Given the description of an element on the screen output the (x, y) to click on. 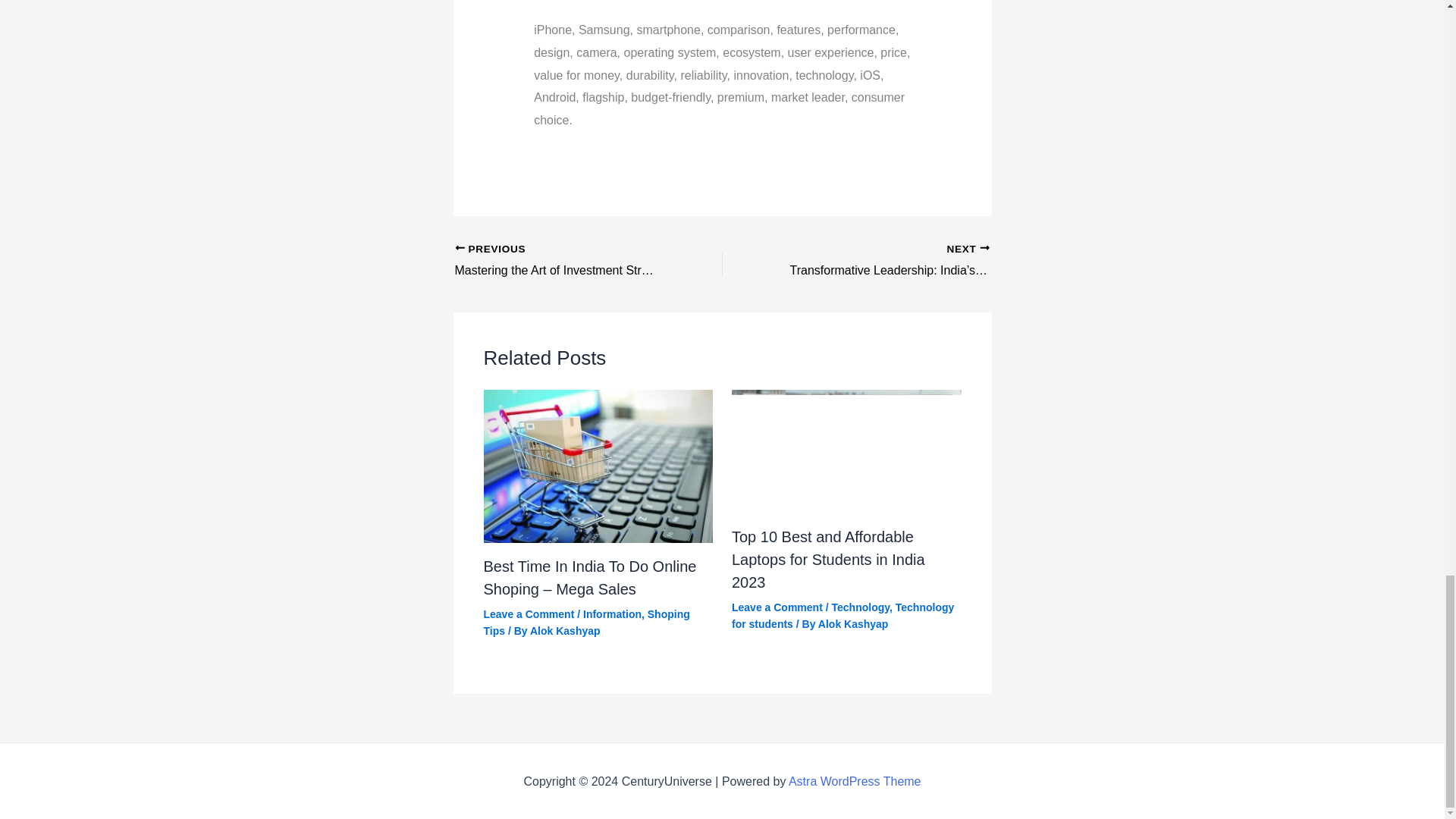
Information (612, 613)
Leave a Comment (529, 613)
Astra WordPress Theme (855, 780)
View all posts by Alok Kashyap (564, 630)
Alok Kashyap (853, 623)
Shoping Tips (586, 622)
Technology (859, 607)
Alok Kashyap (564, 630)
View all posts by Alok Kashyap (853, 623)
Leave a Comment (777, 607)
Technology for students (842, 615)
